Given the description of an element on the screen output the (x, y) to click on. 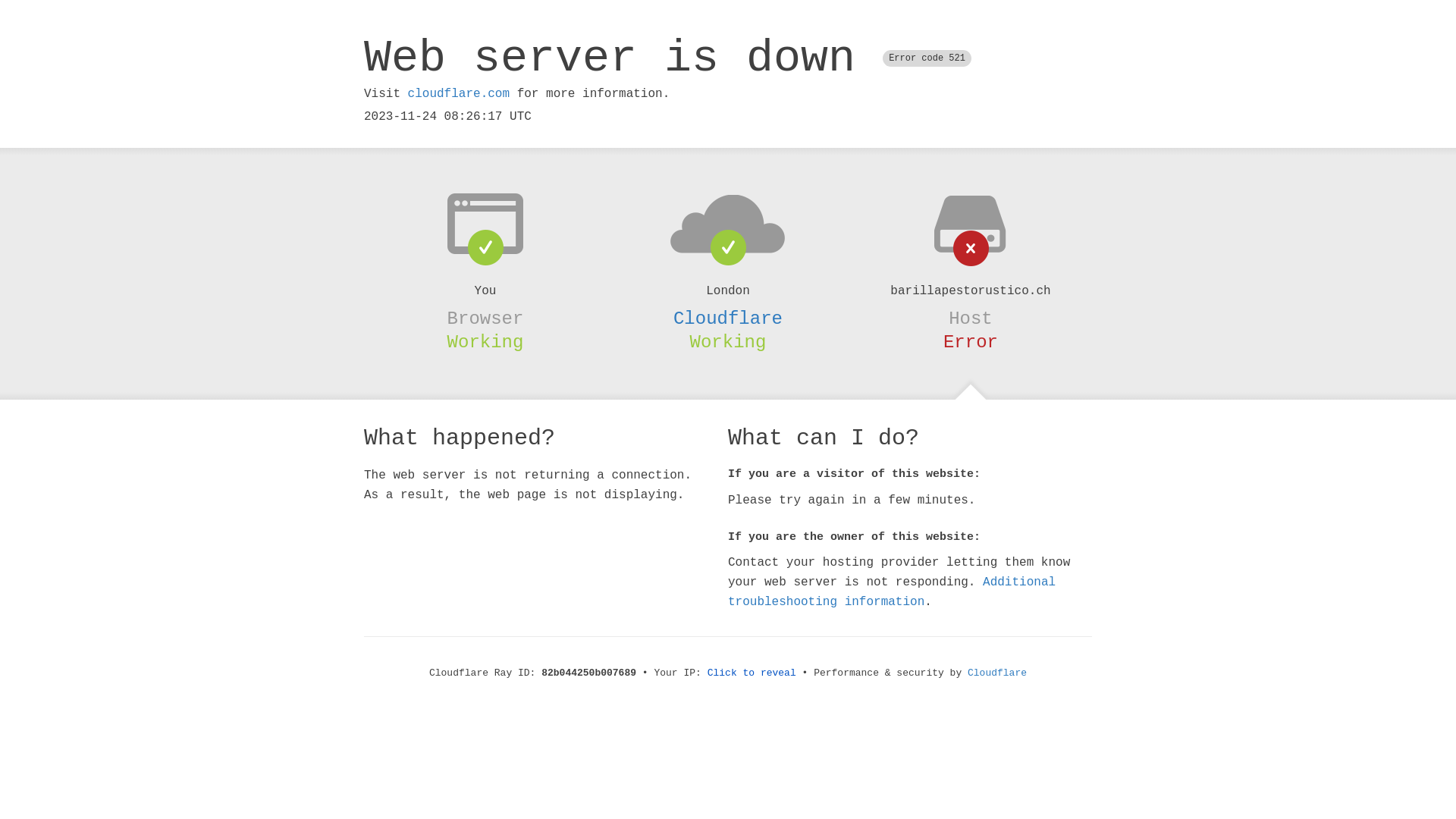
Click to reveal Element type: text (751, 672)
Additional troubleshooting information Element type: text (891, 591)
Cloudflare Element type: text (996, 672)
cloudflare.com Element type: text (458, 93)
Cloudflare Element type: text (727, 318)
